Given the description of an element on the screen output the (x, y) to click on. 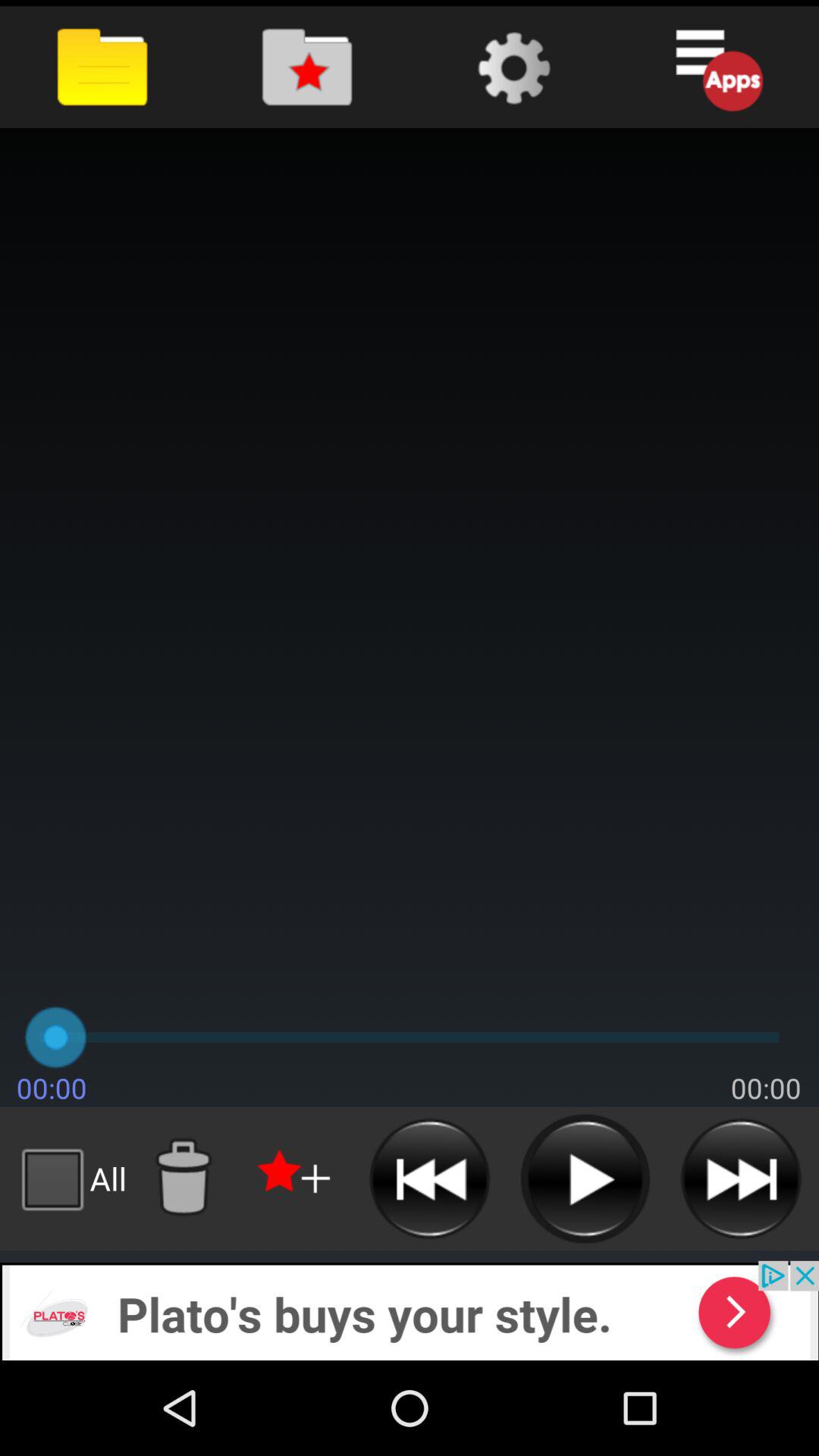
go to beginning of audio (429, 1178)
